Given the description of an element on the screen output the (x, y) to click on. 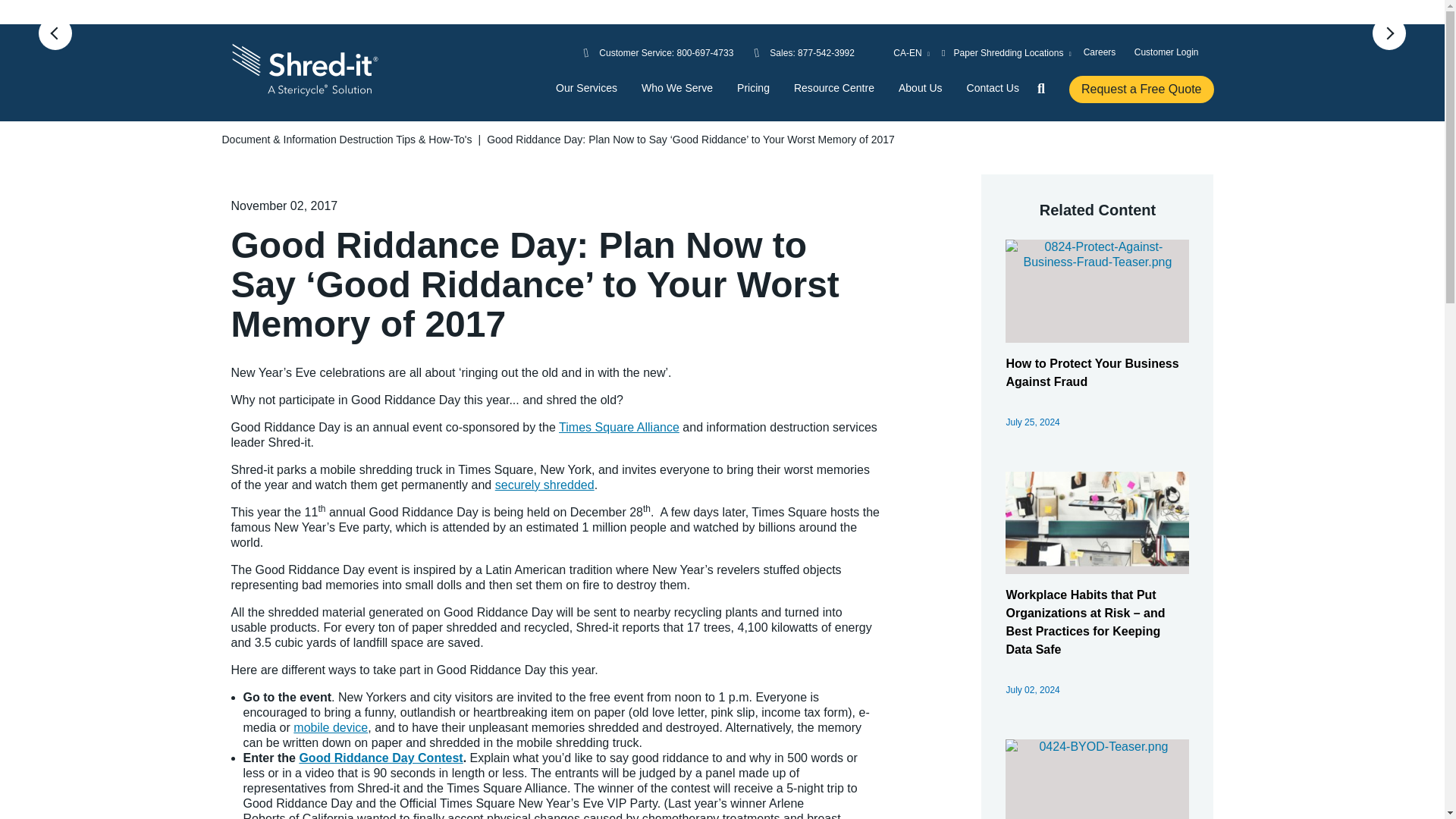
Customer Service: 800-697-4733 (665, 53)
Sales: 877-542-3992 (812, 53)
Paper Shredding Locations (1006, 53)
Our Services (586, 88)
Customer Login (1166, 52)
Who We Serve (677, 88)
Careers (1099, 52)
CA-EN (901, 53)
